Given the description of an element on the screen output the (x, y) to click on. 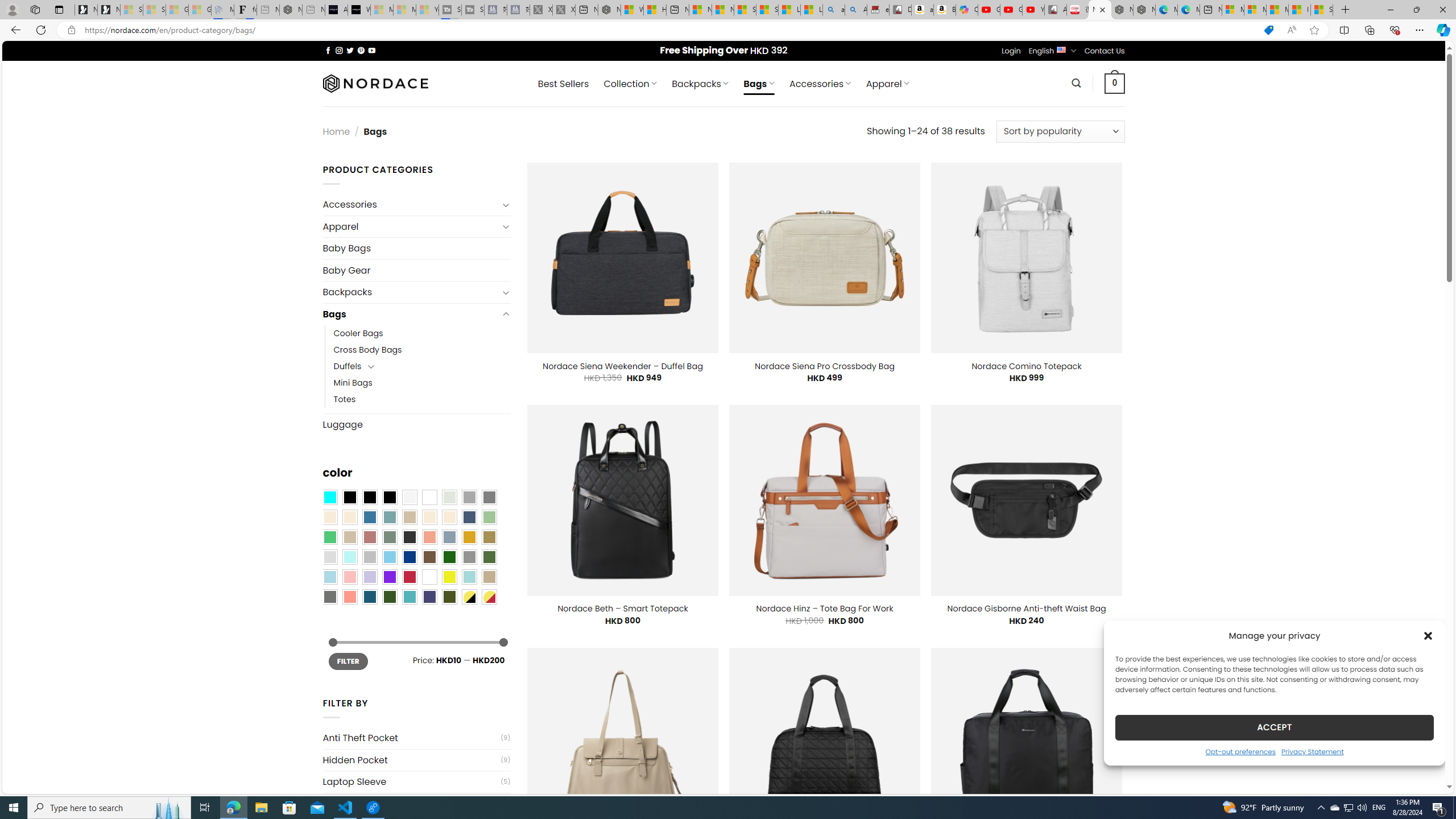
Follow on Instagram (338, 49)
amazon.in/dp/B0CX59H5W7/?tag=gsmcom05-21 (923, 9)
Microsoft account | Privacy (1255, 9)
Rose (369, 536)
Streaming Coverage | T3 - Sleeping (449, 9)
Sage (389, 536)
Nordace - Bags (1099, 9)
Anti Theft Pocket (410, 738)
Yellow-Red (488, 596)
